Given the description of an element on the screen output the (x, y) to click on. 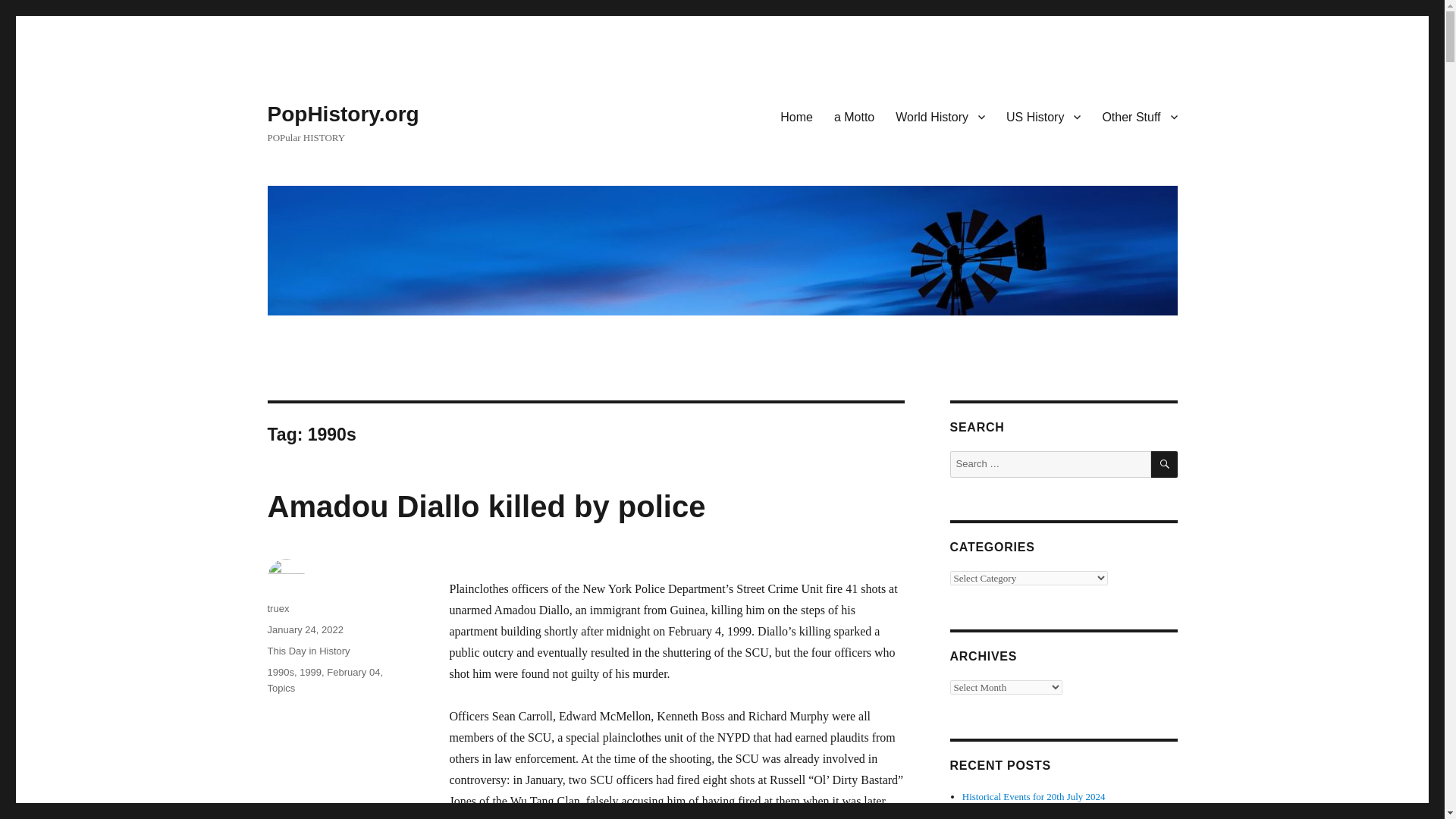
US History (1042, 116)
PopHistory.org (342, 114)
1990s (280, 672)
truex (277, 608)
This Day in History (307, 650)
Amadou Diallo killed by police (485, 506)
Other Stuff (1139, 116)
World History (940, 116)
February 04 (353, 672)
Home (797, 116)
1999 (310, 672)
a Motto (854, 116)
Topics (280, 687)
January 24, 2022 (304, 629)
